Given the description of an element on the screen output the (x, y) to click on. 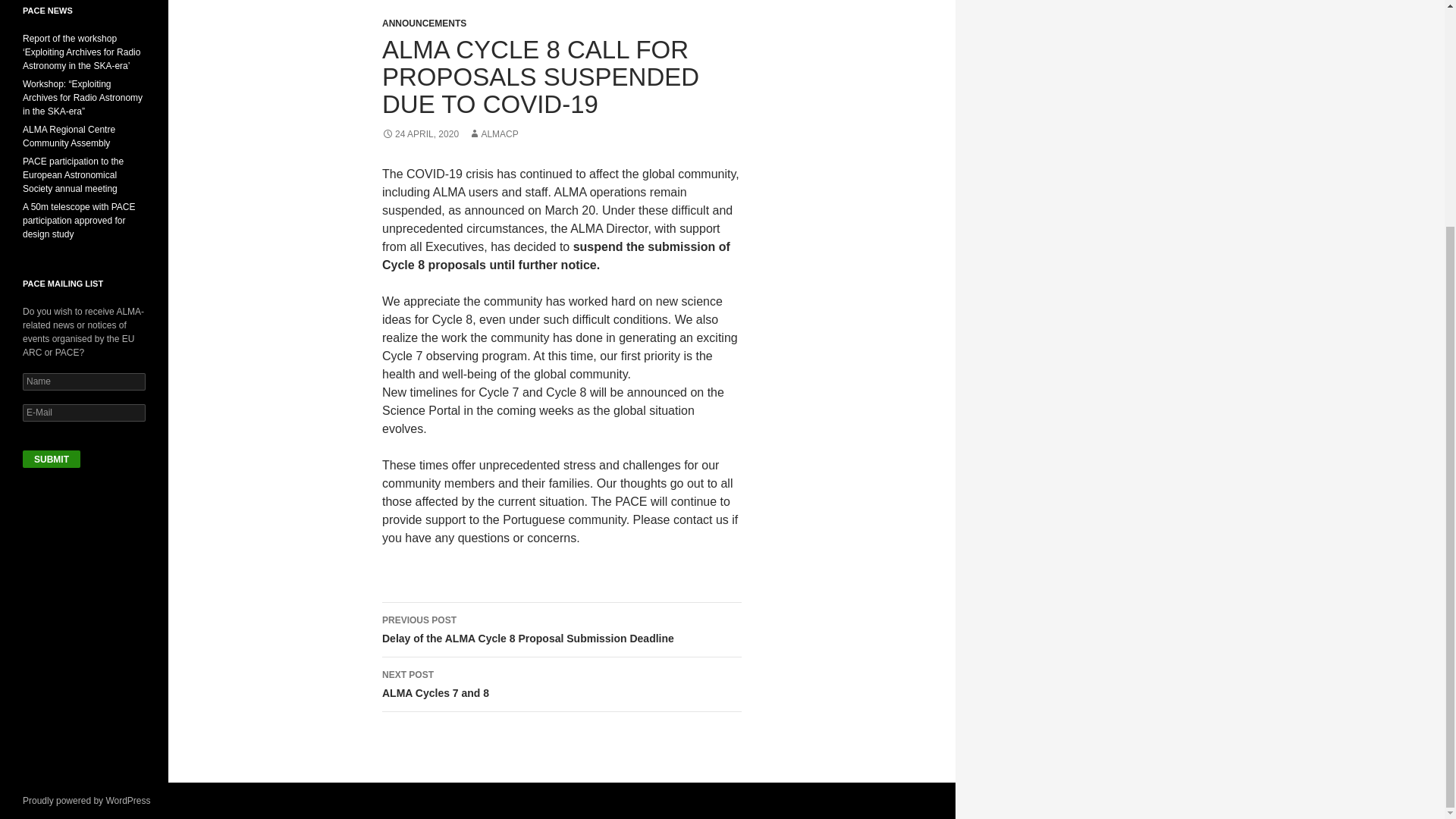
24 APRIL, 2020 (419, 133)
ALMACP (493, 133)
Submit (51, 458)
ANNOUNCEMENTS (423, 23)
Submit (561, 684)
ALMA Regional Centre Community Assembly (51, 458)
Proudly powered by WordPress (69, 136)
